Given the description of an element on the screen output the (x, y) to click on. 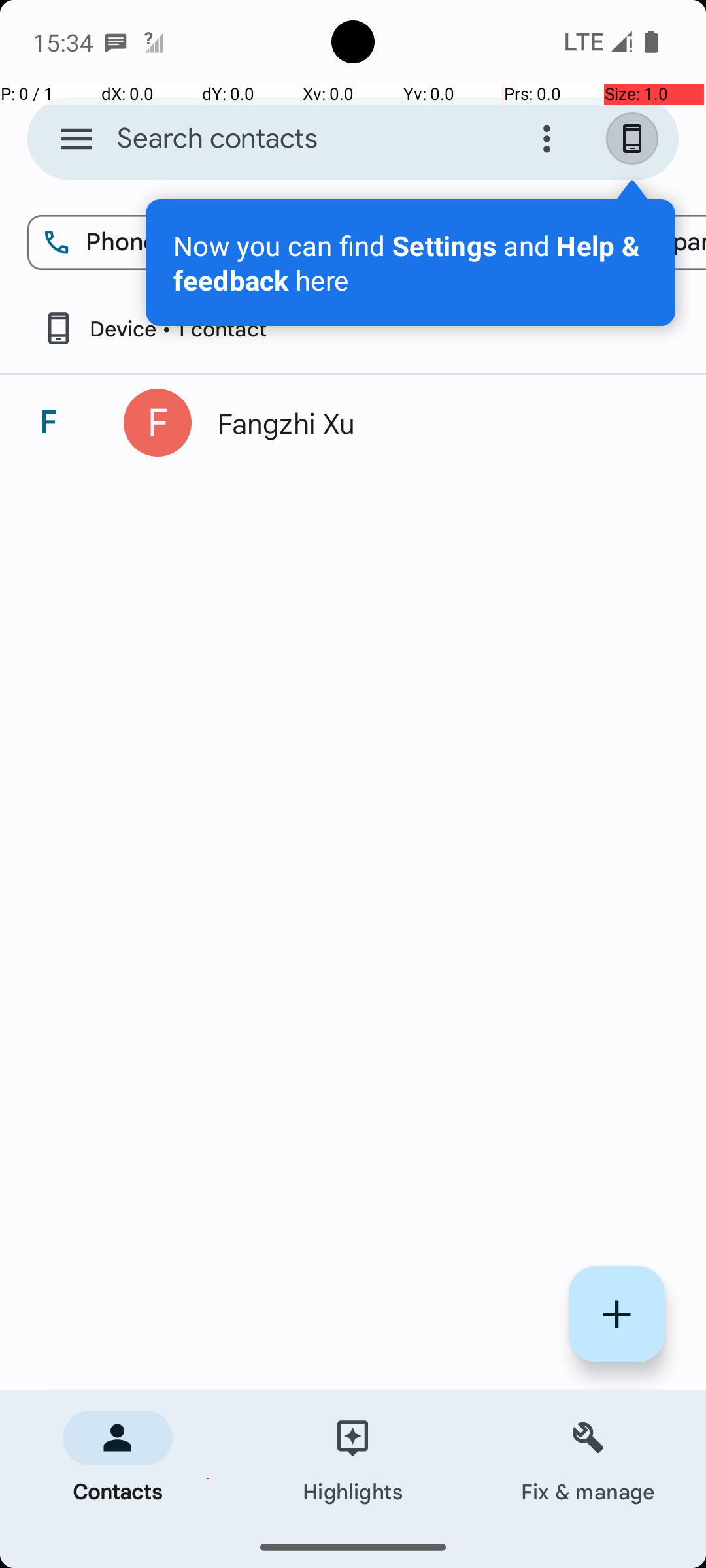
Device • 1 contact Element type: android.widget.TextView (153, 328)
Fangzhi Xu Element type: android.widget.TextView (434, 422)
Now you can find Settings and Help & feedback here
Open account and settings. Element type: android.view.ViewGroup (409, 262)
